Given the description of an element on the screen output the (x, y) to click on. 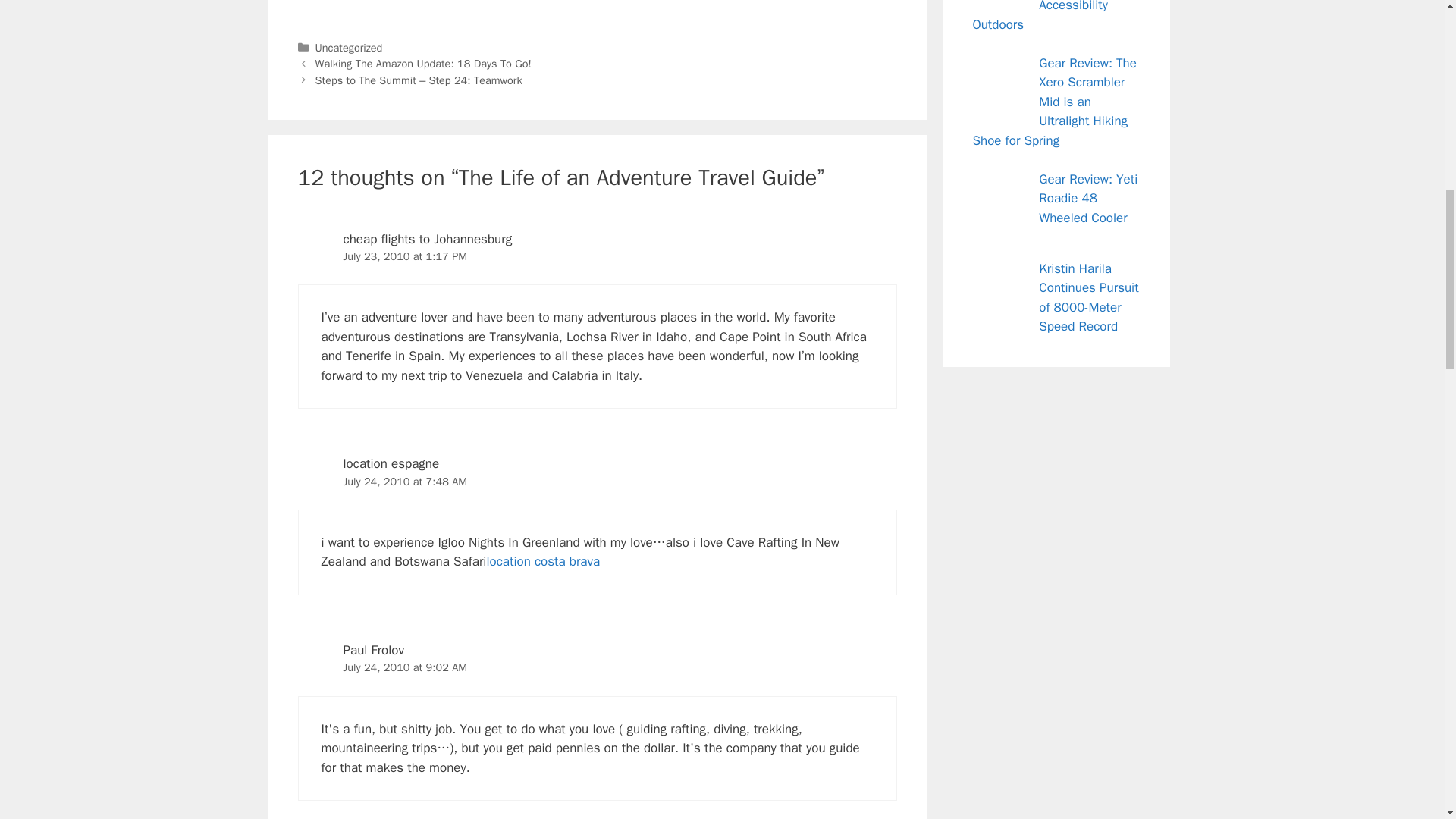
July 24, 2010 at 9:02 AM (404, 667)
Walking The Amazon Update: 18 Days To Go! (423, 63)
location costa brava (542, 561)
Uncategorized (348, 47)
July 24, 2010 at 7:48 AM (404, 481)
July 23, 2010 at 1:17 PM (404, 255)
